Given the description of an element on the screen output the (x, y) to click on. 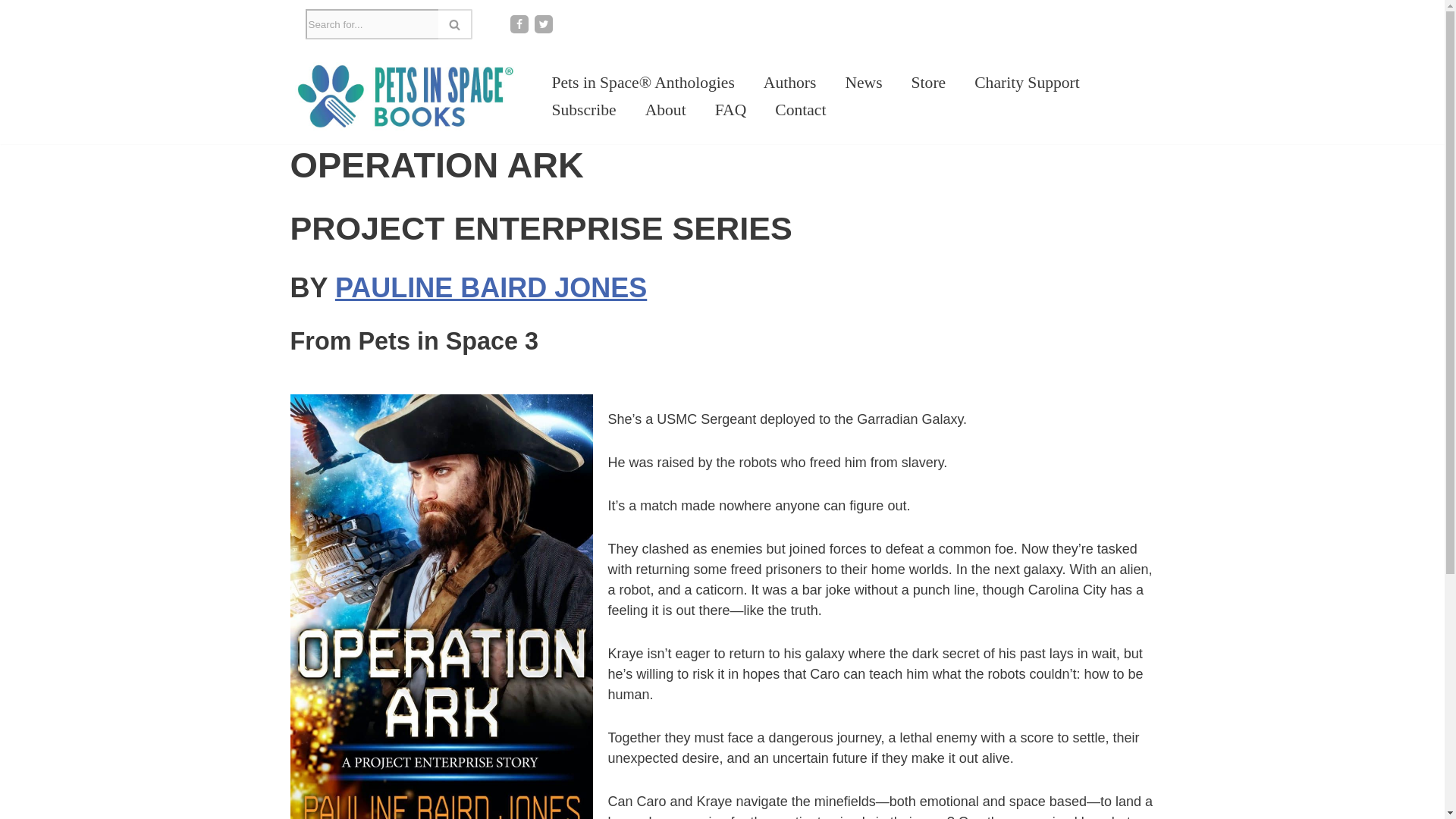
FAQ (730, 109)
Authors (789, 82)
Subscribe (583, 109)
Twitter (542, 24)
About (665, 109)
Store (928, 82)
Facebook (518, 24)
Contact (799, 109)
PAULINE BAIRD JONES (490, 287)
Skip to content (11, 31)
